Given the description of an element on the screen output the (x, y) to click on. 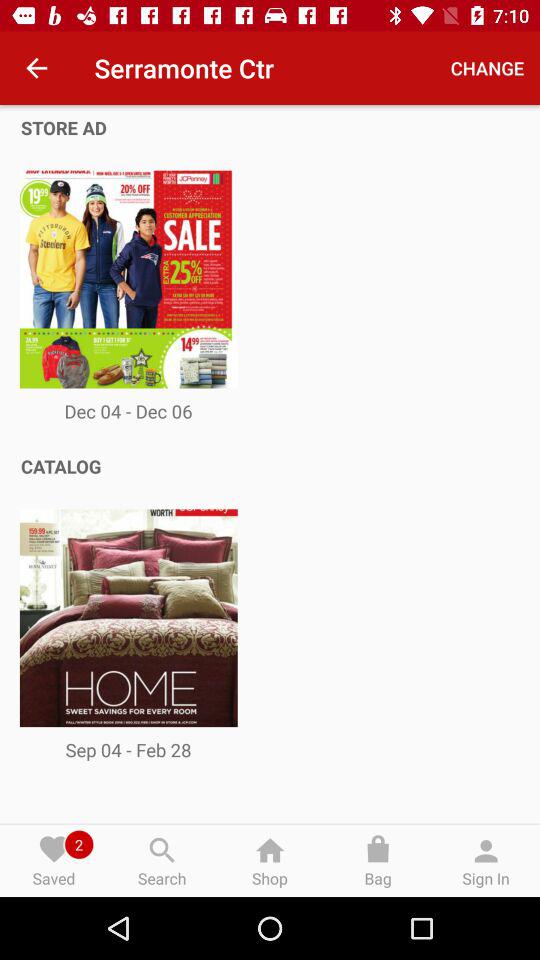
select item above the store ad (36, 68)
